Given the description of an element on the screen output the (x, y) to click on. 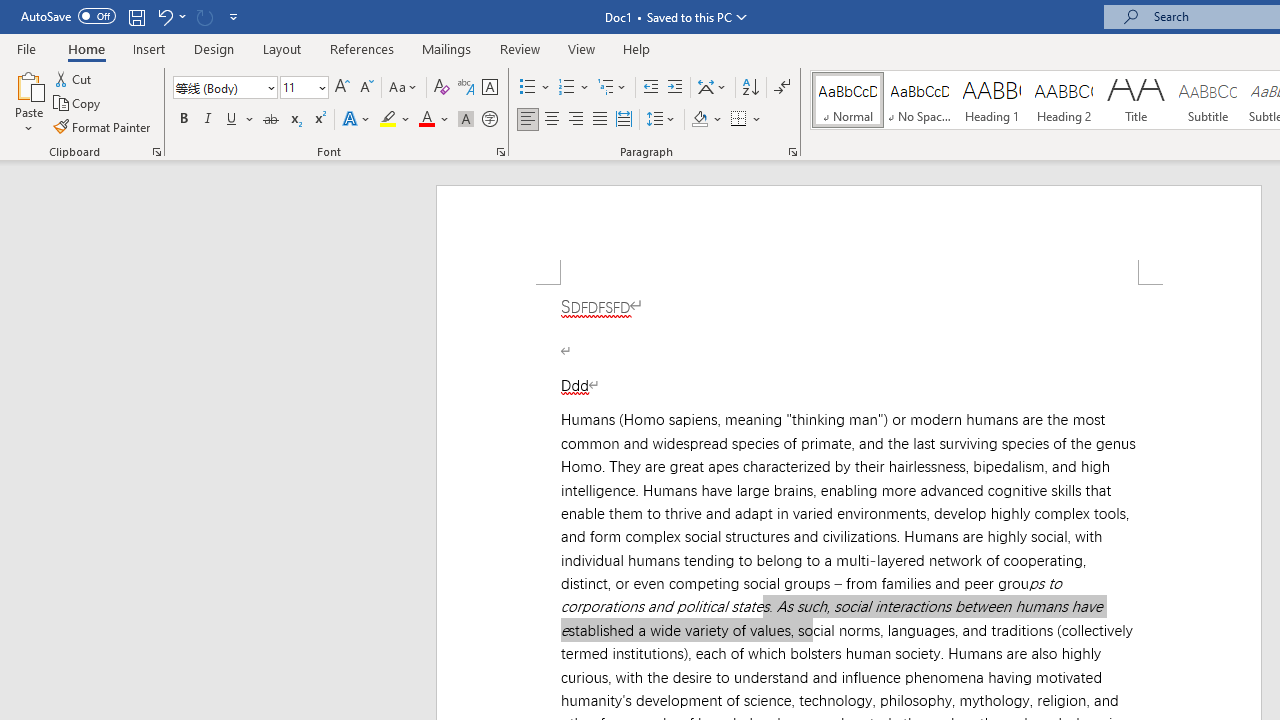
Borders (746, 119)
Undo Apply Quick Style Set (170, 15)
Font Color RGB(255, 0, 0) (426, 119)
Superscript (319, 119)
Shading (706, 119)
Layout (282, 48)
Align Left (527, 119)
Review (520, 48)
Text Effects and Typography (357, 119)
Font Size (304, 87)
Phonetic Guide... (465, 87)
Design (214, 48)
Shading RGB(0, 0, 0) (699, 119)
Paragraph... (792, 151)
Shrink Font (365, 87)
